Given the description of an element on the screen output the (x, y) to click on. 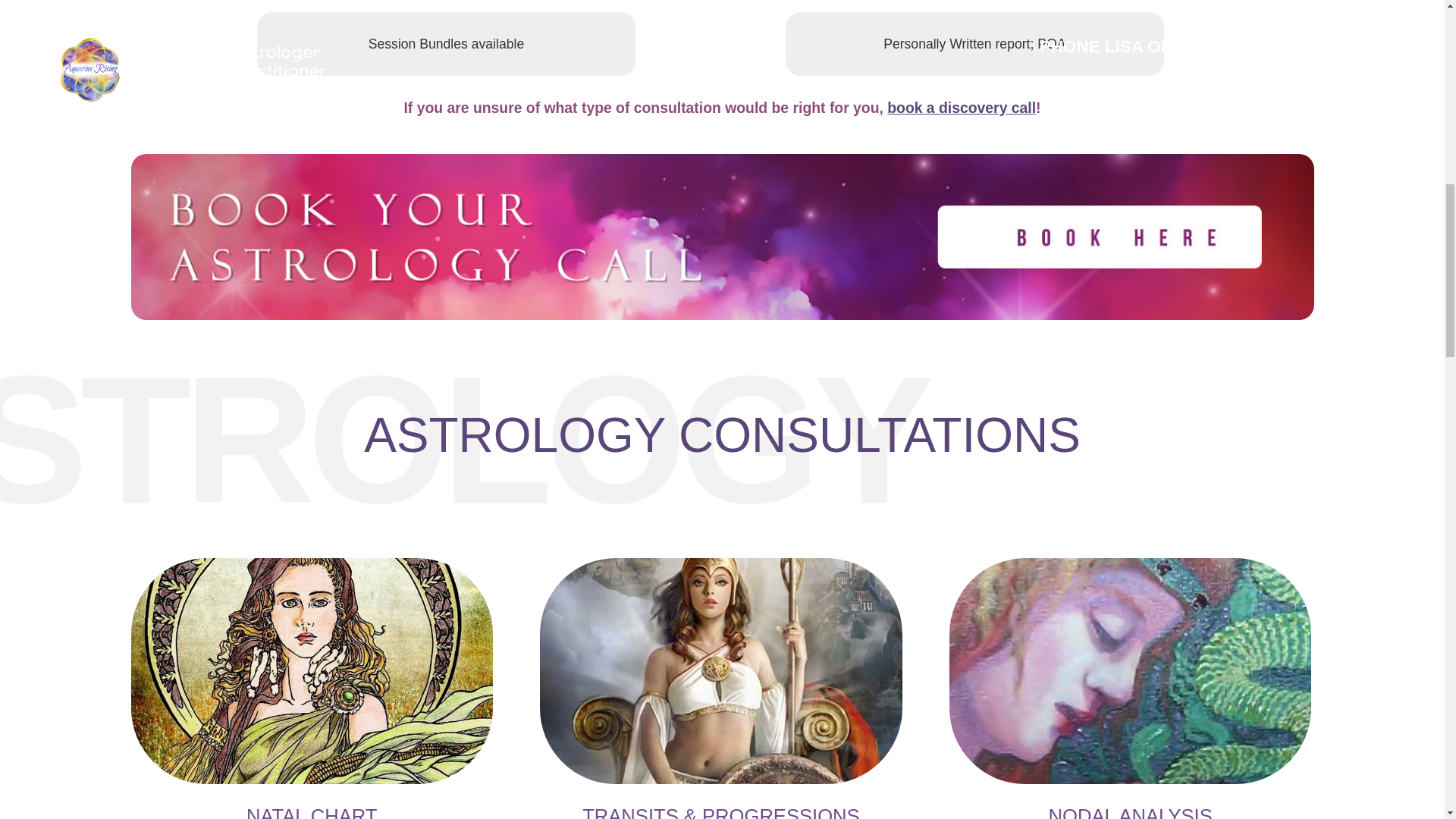
NATAL CHART (311, 812)
book a discovery call (960, 107)
NODAL ANALYSIS (1130, 812)
